Given the description of an element on the screen output the (x, y) to click on. 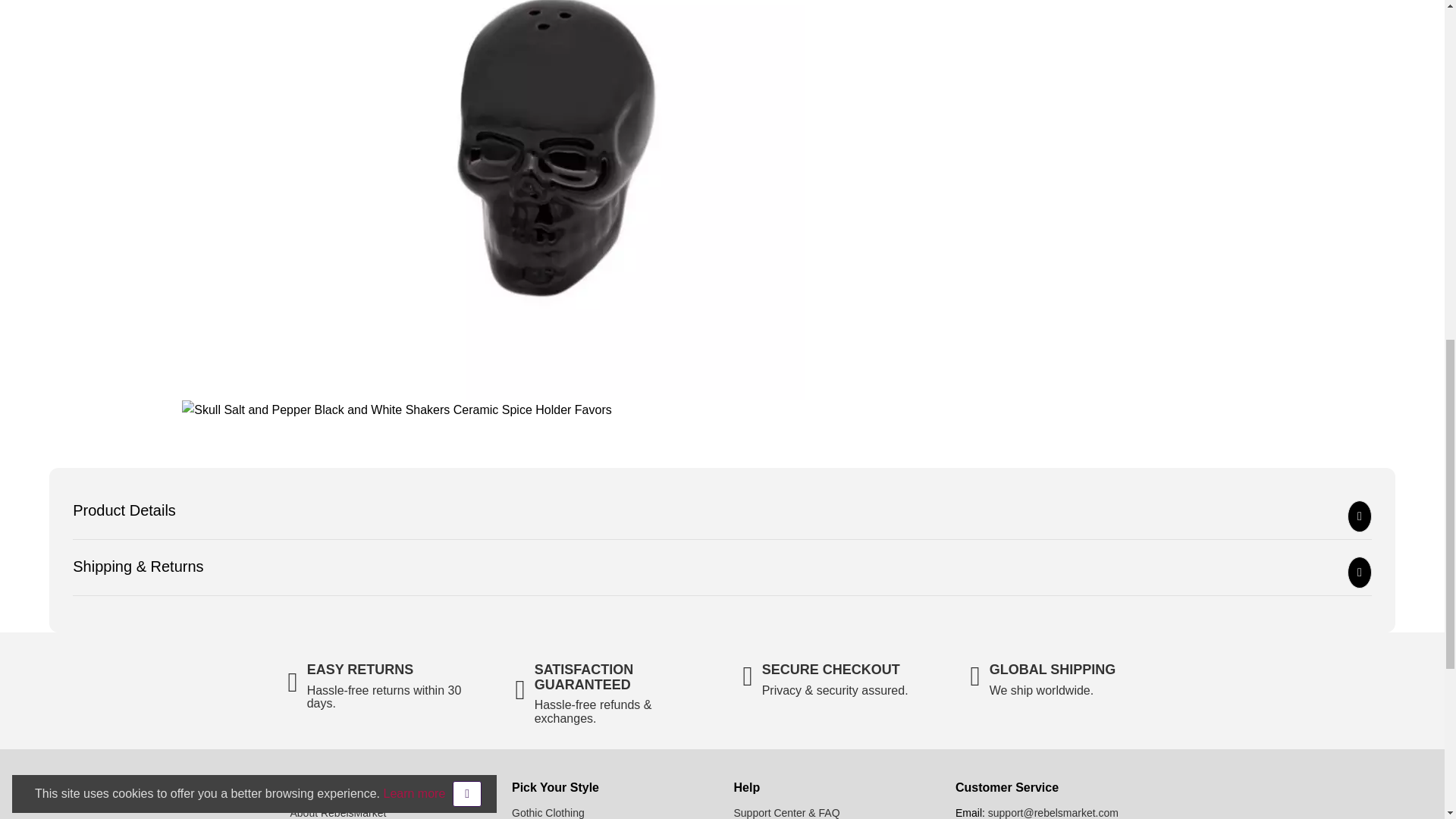
About Us  (337, 812)
